Given the description of an element on the screen output the (x, y) to click on. 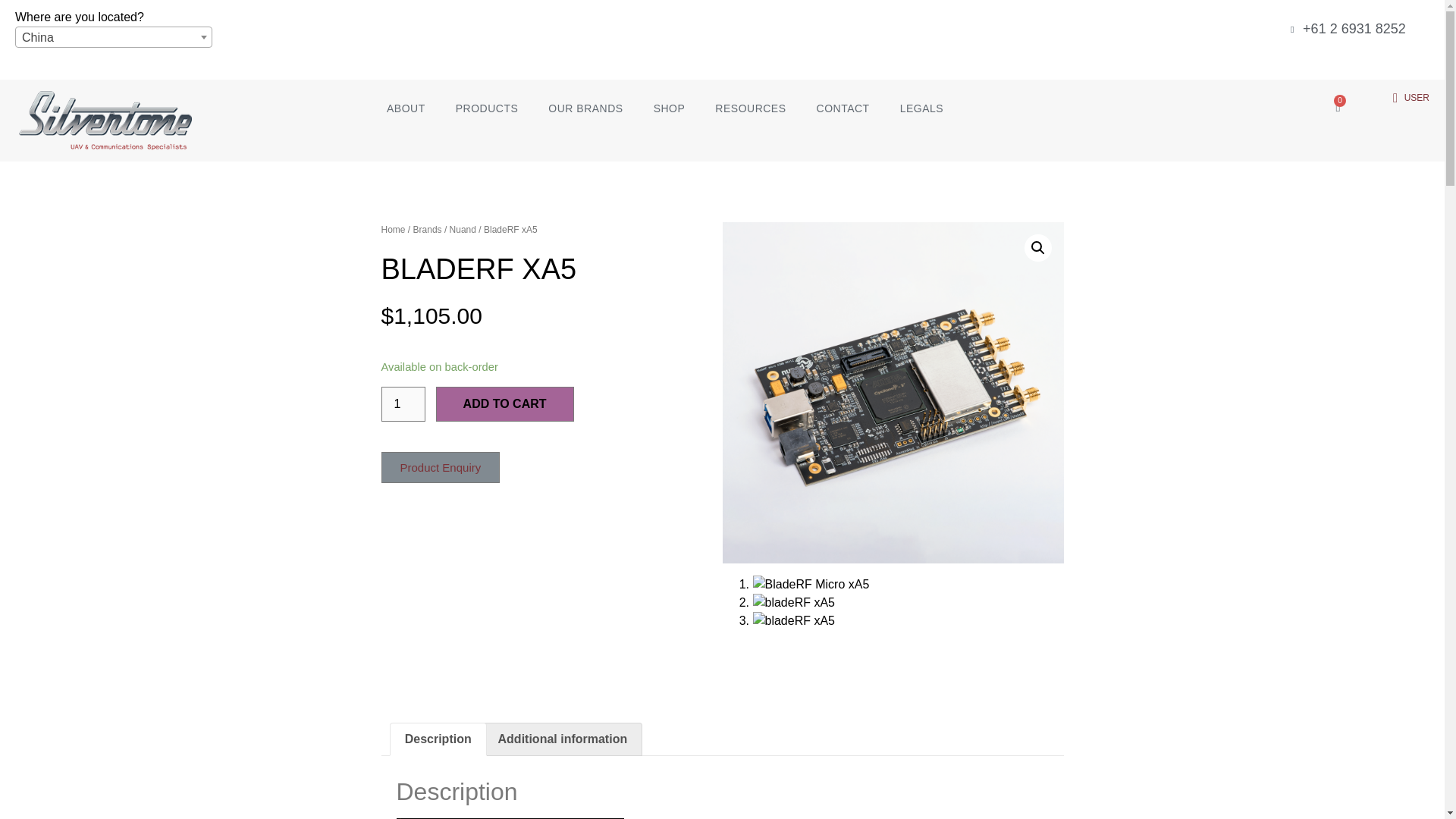
ABOUT (406, 108)
1 (402, 403)
Visit silvertone.com.au (1357, 60)
OUR BRANDS (584, 108)
PRODUCTS (487, 108)
China (113, 37)
